Given the description of an element on the screen output the (x, y) to click on. 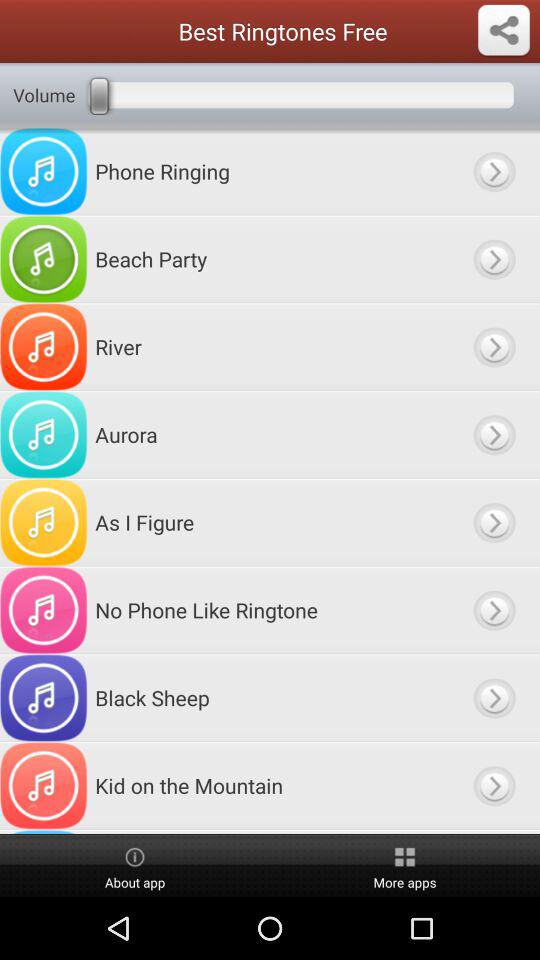
plays sound (494, 434)
